Given the description of an element on the screen output the (x, y) to click on. 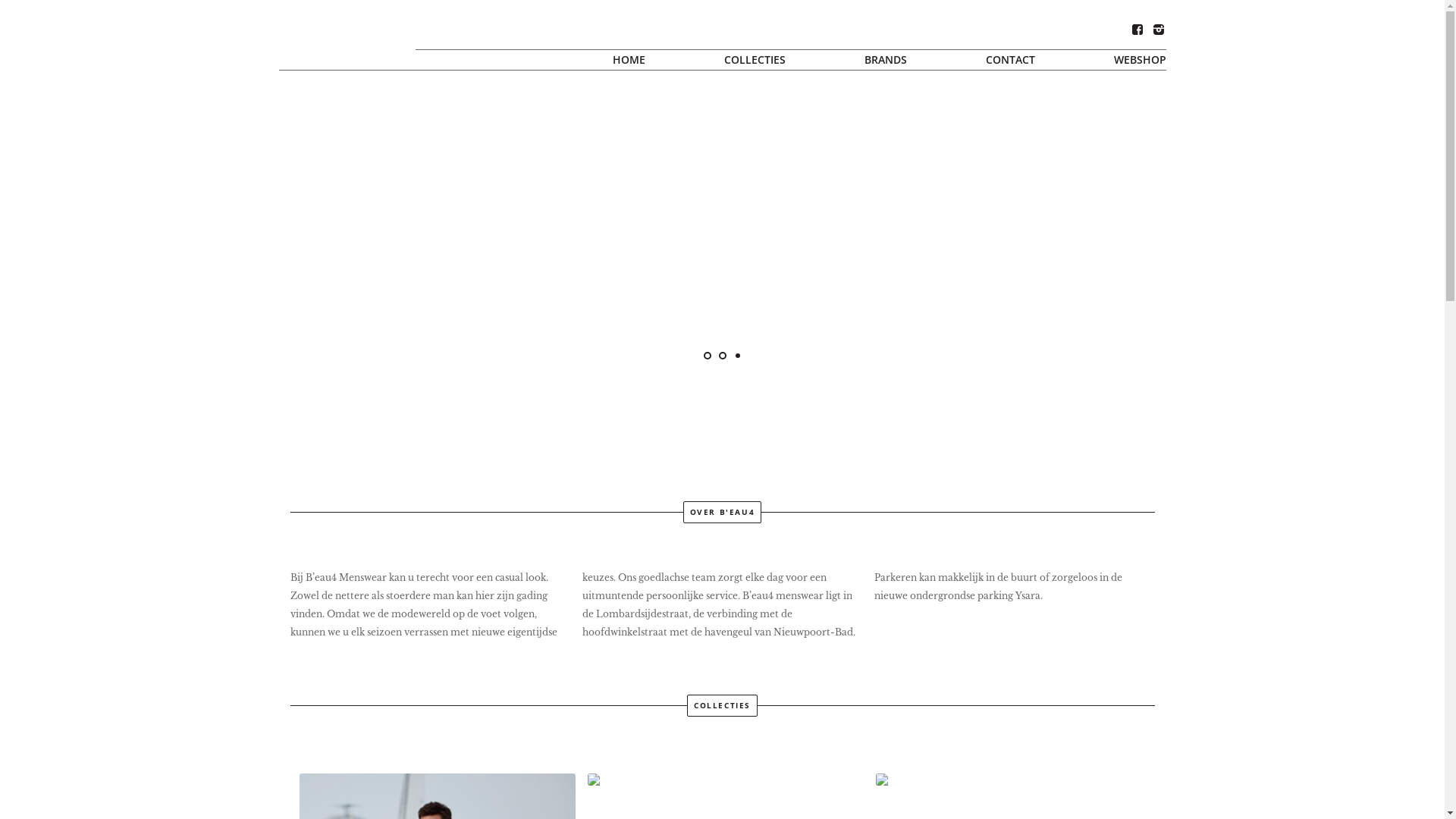
beau4 Element type: text (346, 37)
BRANDS Element type: text (885, 59)
beau4 Element type: text (303, 6)
facebook Element type: hover (1137, 29)
instagram Element type: hover (1157, 29)
HOME Element type: text (628, 59)
CONTACT Element type: text (1010, 59)
WEBSHOP Element type: text (1120, 59)
COLLECTIES Element type: text (753, 59)
